Given the description of an element on the screen output the (x, y) to click on. 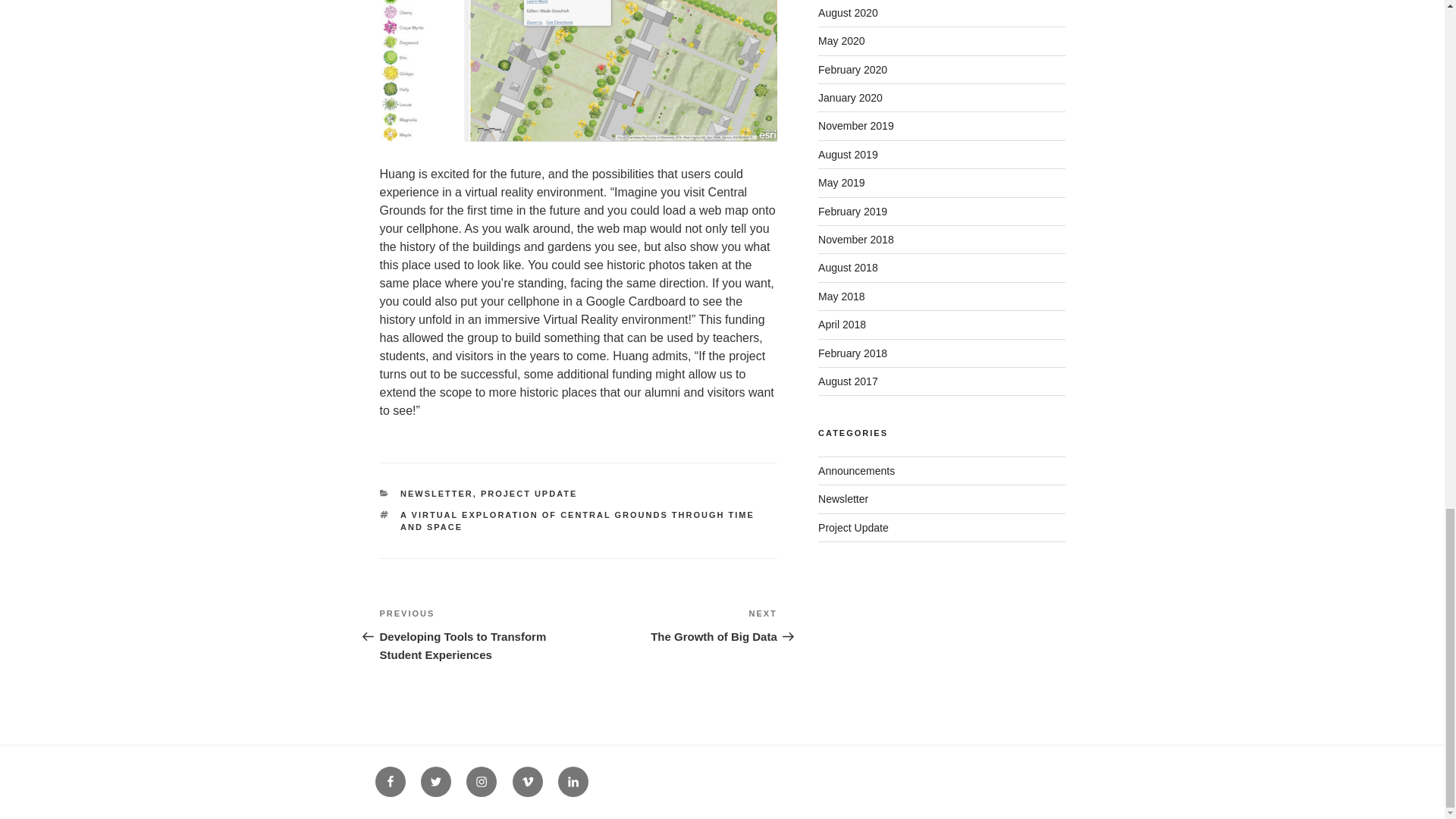
NEWSLETTER (677, 625)
PROJECT UPDATE (436, 492)
